Given the description of an element on the screen output the (x, y) to click on. 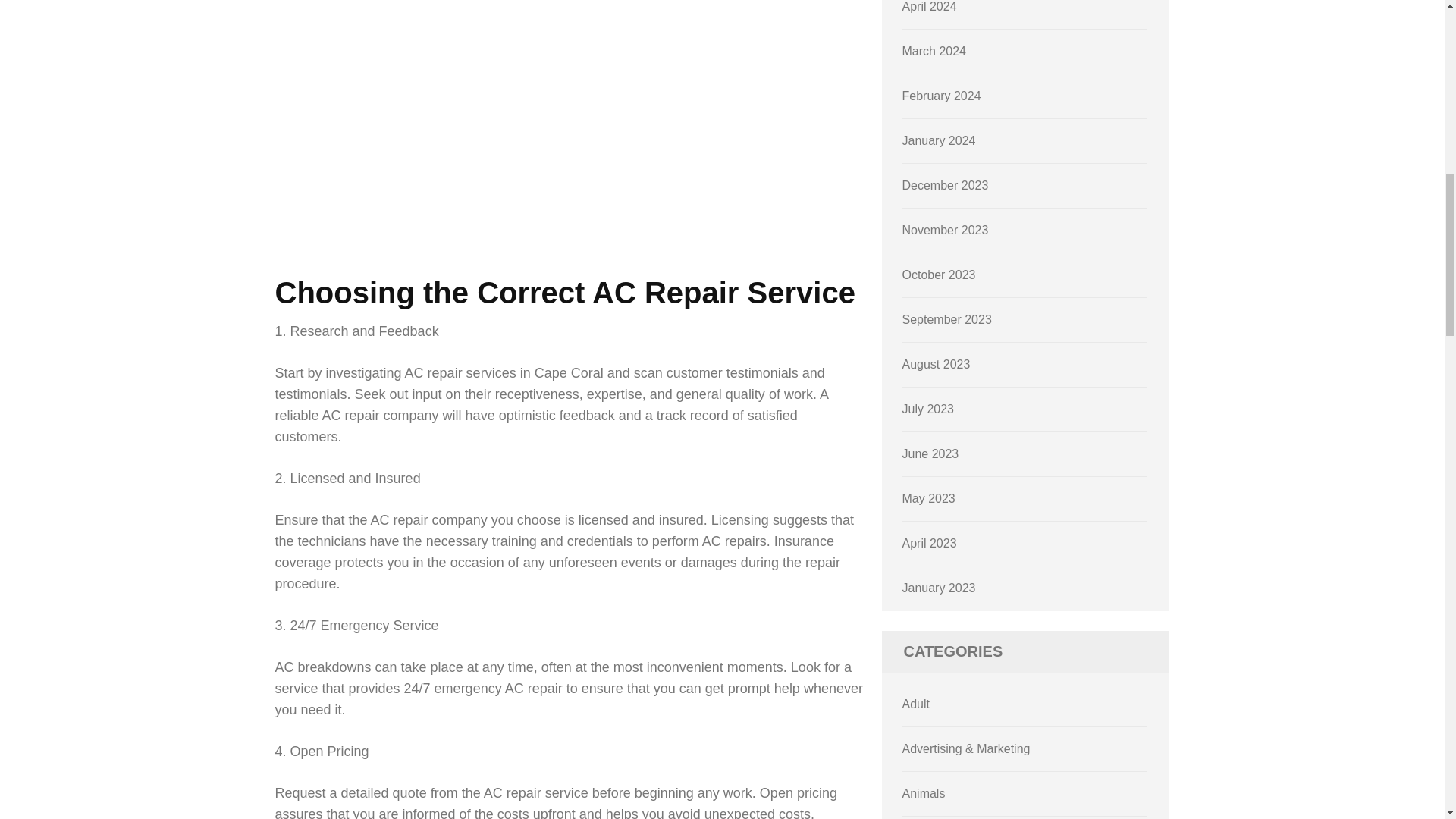
October 2023 (938, 274)
May 2023 (928, 498)
January 2023 (938, 587)
January 2024 (938, 140)
March 2024 (934, 51)
August 2023 (936, 364)
December 2023 (945, 185)
November 2023 (945, 229)
June 2023 (930, 453)
September 2023 (946, 318)
April 2023 (929, 543)
February 2024 (941, 95)
July 2023 (928, 408)
April 2024 (929, 6)
